Given the description of an element on the screen output the (x, y) to click on. 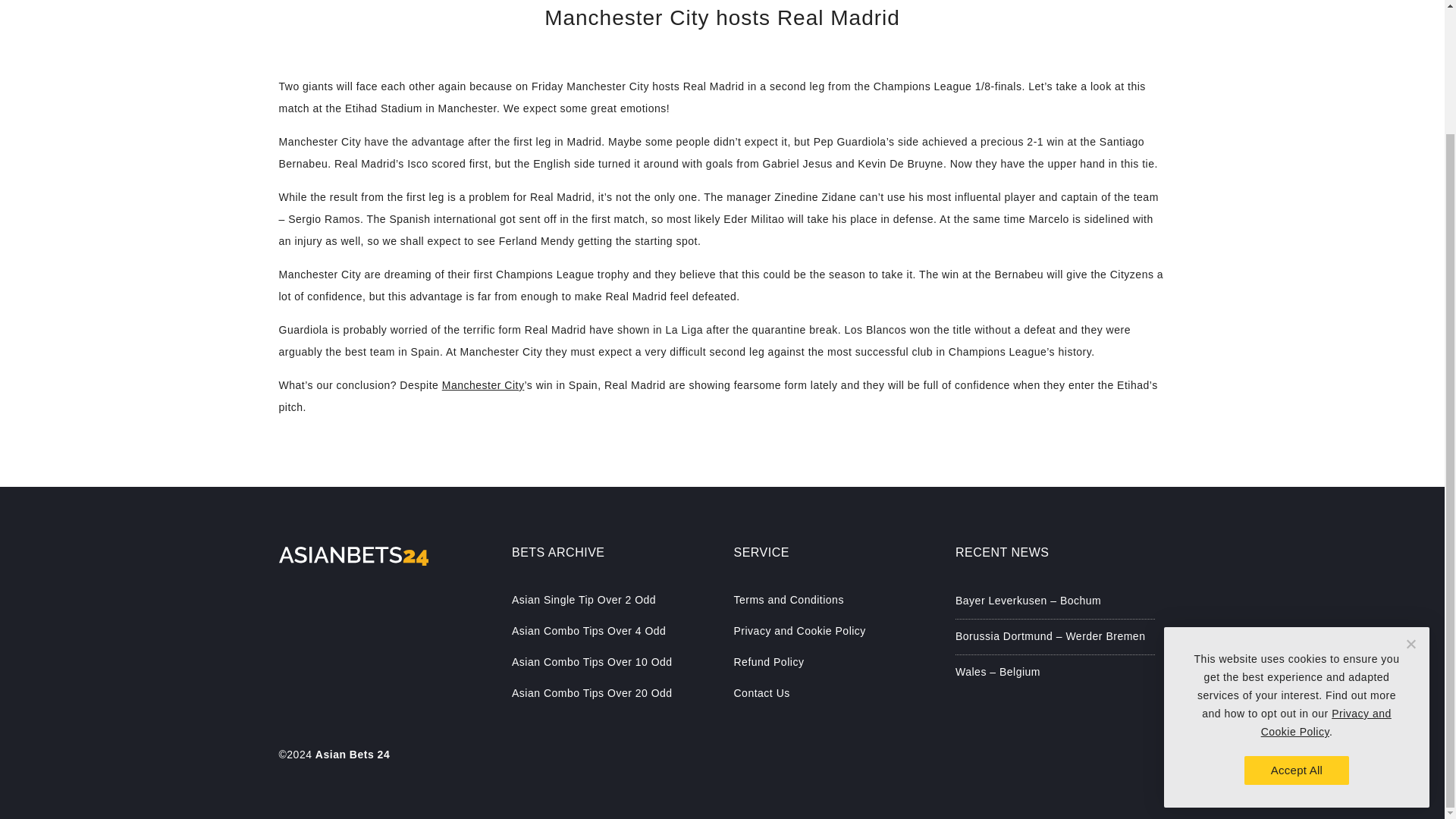
No (1410, 494)
Terms and Conditions (833, 599)
Asian Combo Tips Over 20 Odd (611, 693)
Asian Combo Tips Over 4 Odd (611, 630)
Manchester City (483, 385)
Asian Single Tip Over 2 Odd (611, 599)
Asian Combo Tips Over 10 Odd (611, 662)
Accept All (1296, 620)
Refund Policy (833, 662)
Asian Bets 24 (352, 754)
Privacy and Cookie Policy (833, 630)
Privacy and Cookie Policy (1325, 572)
Asian Bets 24 (352, 754)
Contact Us (833, 693)
